Given the description of an element on the screen output the (x, y) to click on. 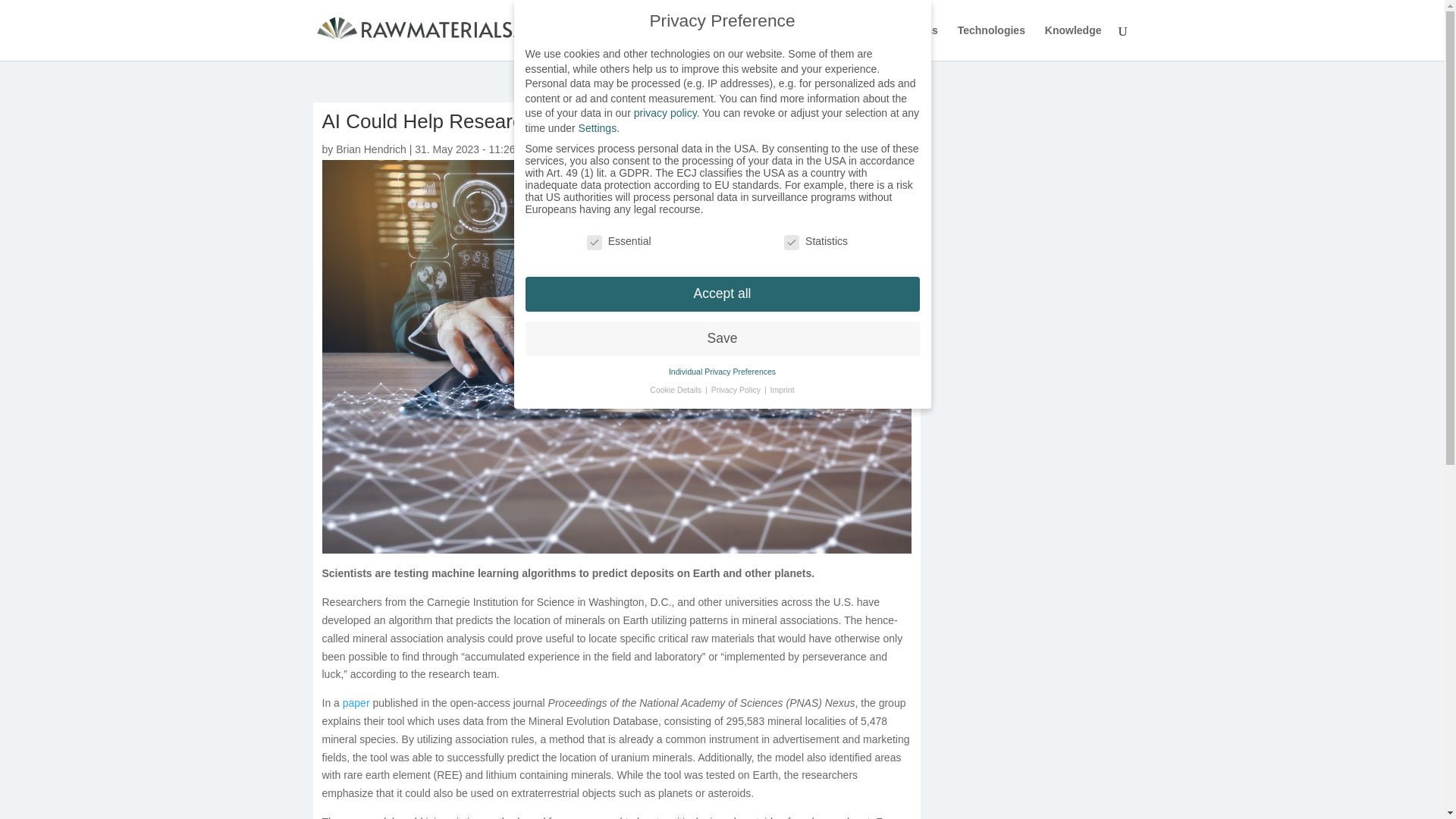
Posts by Brian Hendrich (371, 149)
Knowledge (1073, 42)
paper (355, 702)
Settings (597, 128)
privacy policy (665, 112)
Economy (856, 42)
Technologies (991, 42)
Brian Hendrich (371, 149)
Politics (918, 42)
Save (721, 338)
